Given the description of an element on the screen output the (x, y) to click on. 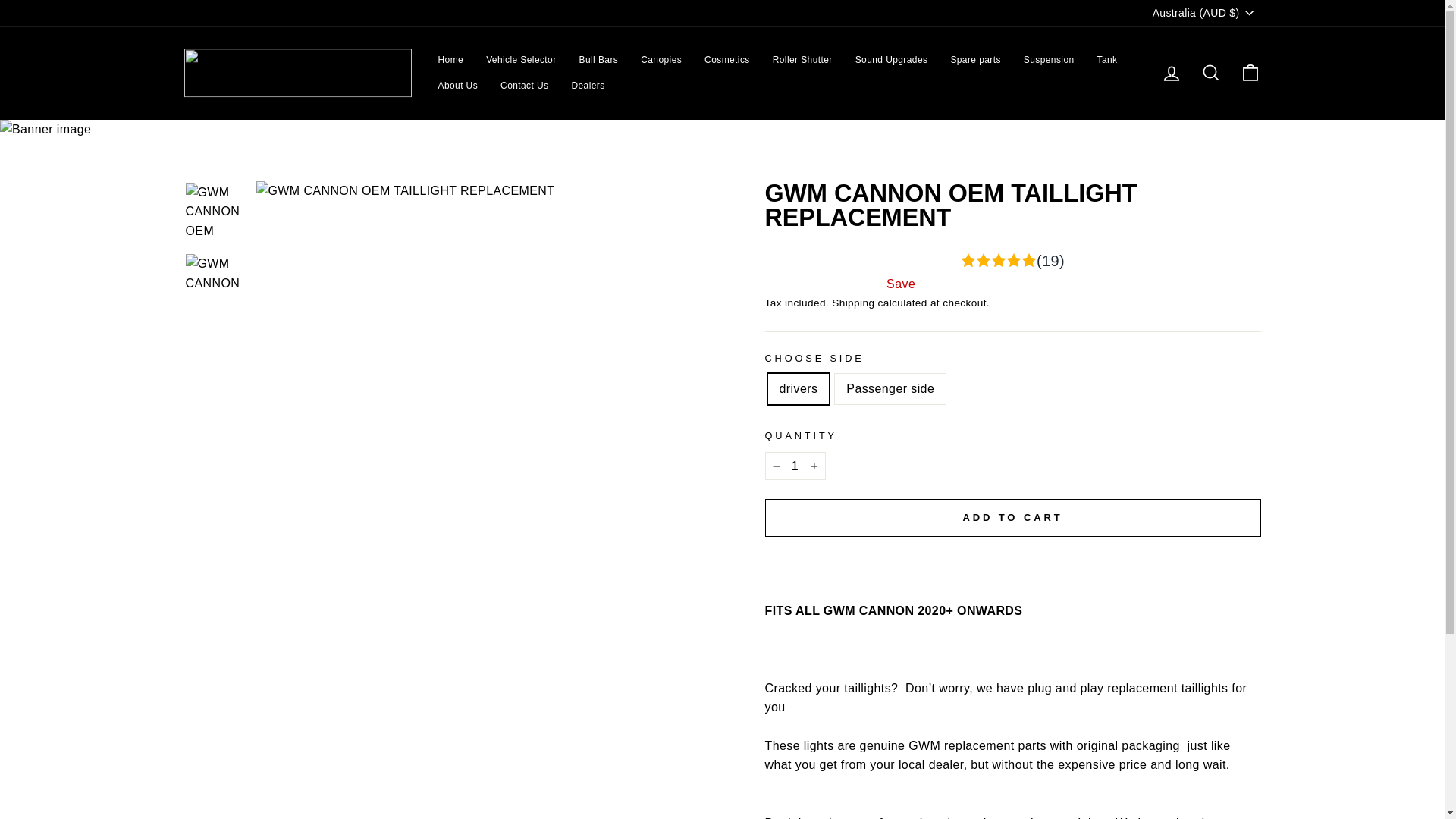
Contact Us (524, 85)
Suspension (1048, 59)
Cosmetics (727, 59)
Tank (1107, 59)
Spare parts (975, 59)
Canopies (660, 59)
Roller Shutter (802, 59)
Home (450, 59)
icon-search (1210, 72)
Vehicle Selector (520, 59)
Sound Upgrades (891, 59)
Bull Bars (598, 59)
icon-bag-minimal (1249, 72)
About Us (457, 85)
